Given the description of an element on the screen output the (x, y) to click on. 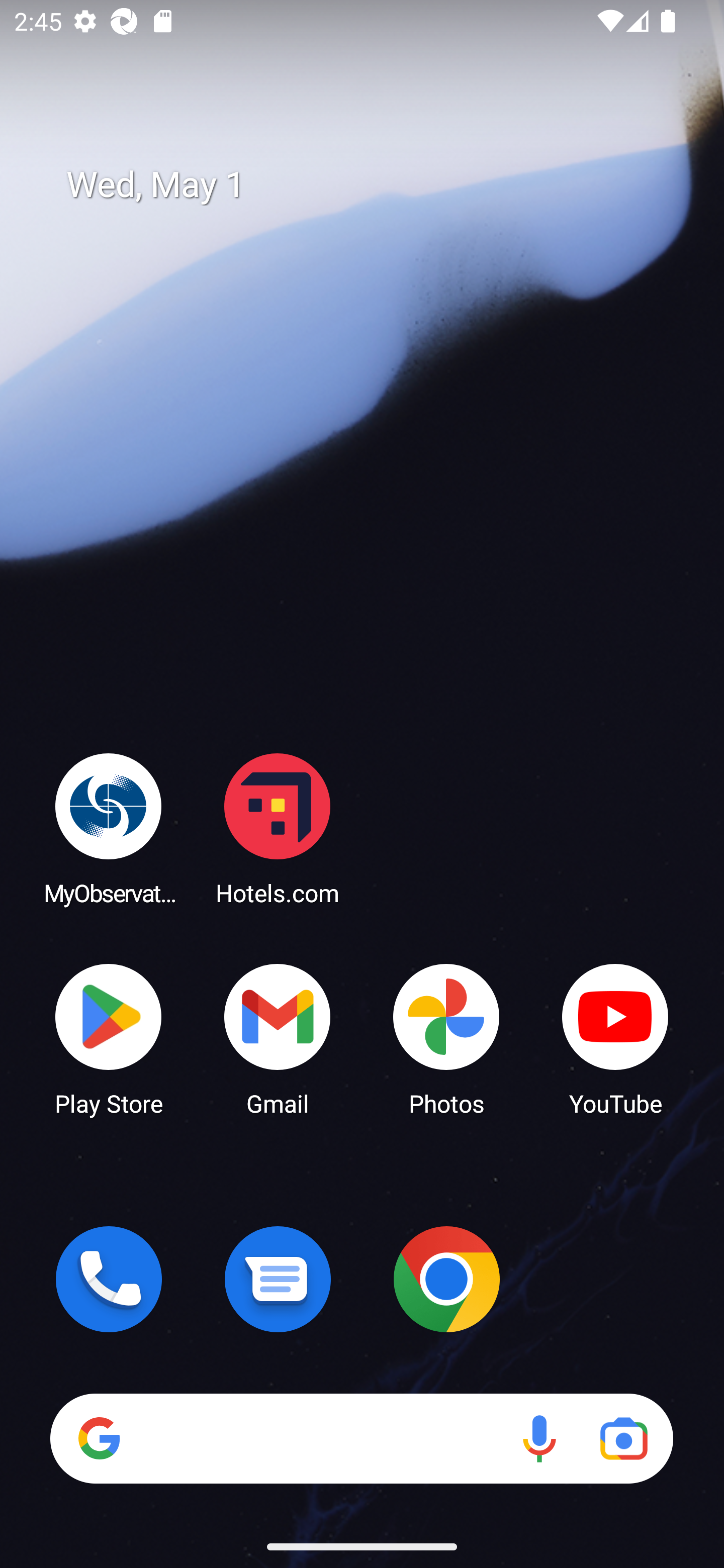
Wed, May 1 (375, 184)
MyObservatory (108, 828)
Hotels.com (277, 828)
Play Store (108, 1038)
Gmail (277, 1038)
Photos (445, 1038)
YouTube (615, 1038)
Phone (108, 1279)
Messages (277, 1279)
Chrome (446, 1279)
Search Voice search Google Lens (361, 1438)
Voice search (539, 1438)
Google Lens (623, 1438)
